Given the description of an element on the screen output the (x, y) to click on. 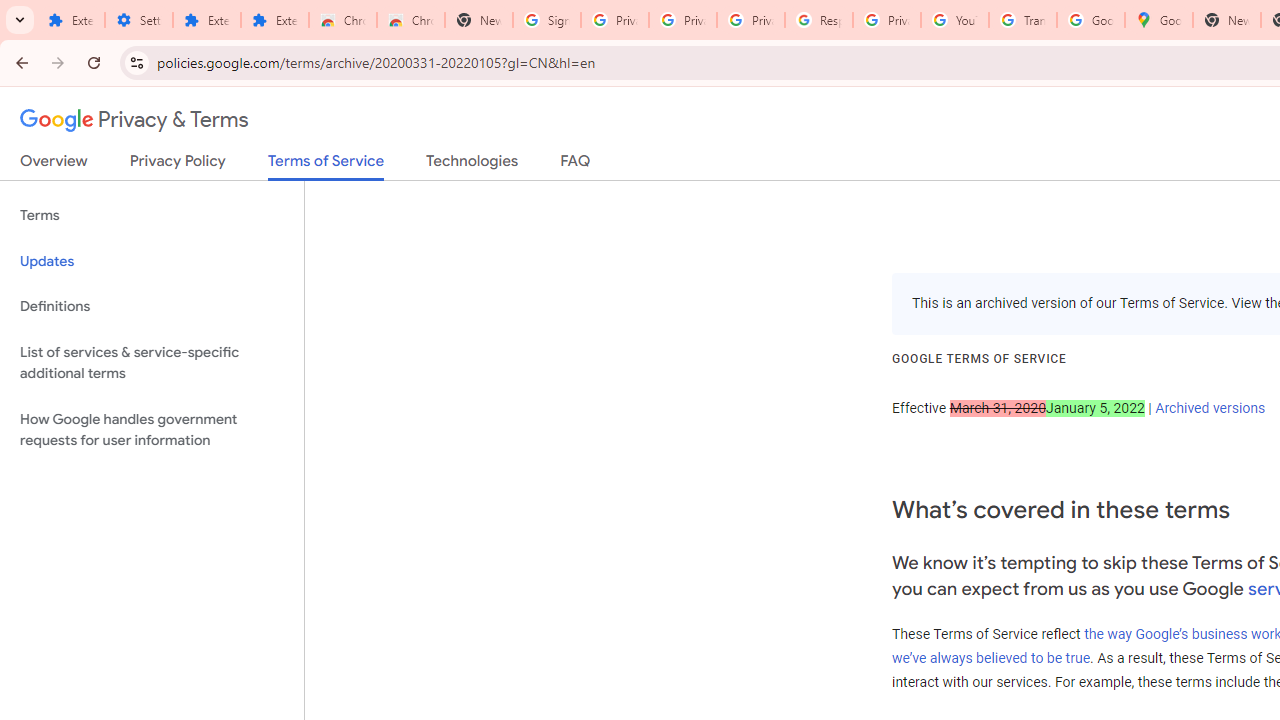
Sign in - Google Accounts (547, 20)
